Given the description of an element on the screen output the (x, y) to click on. 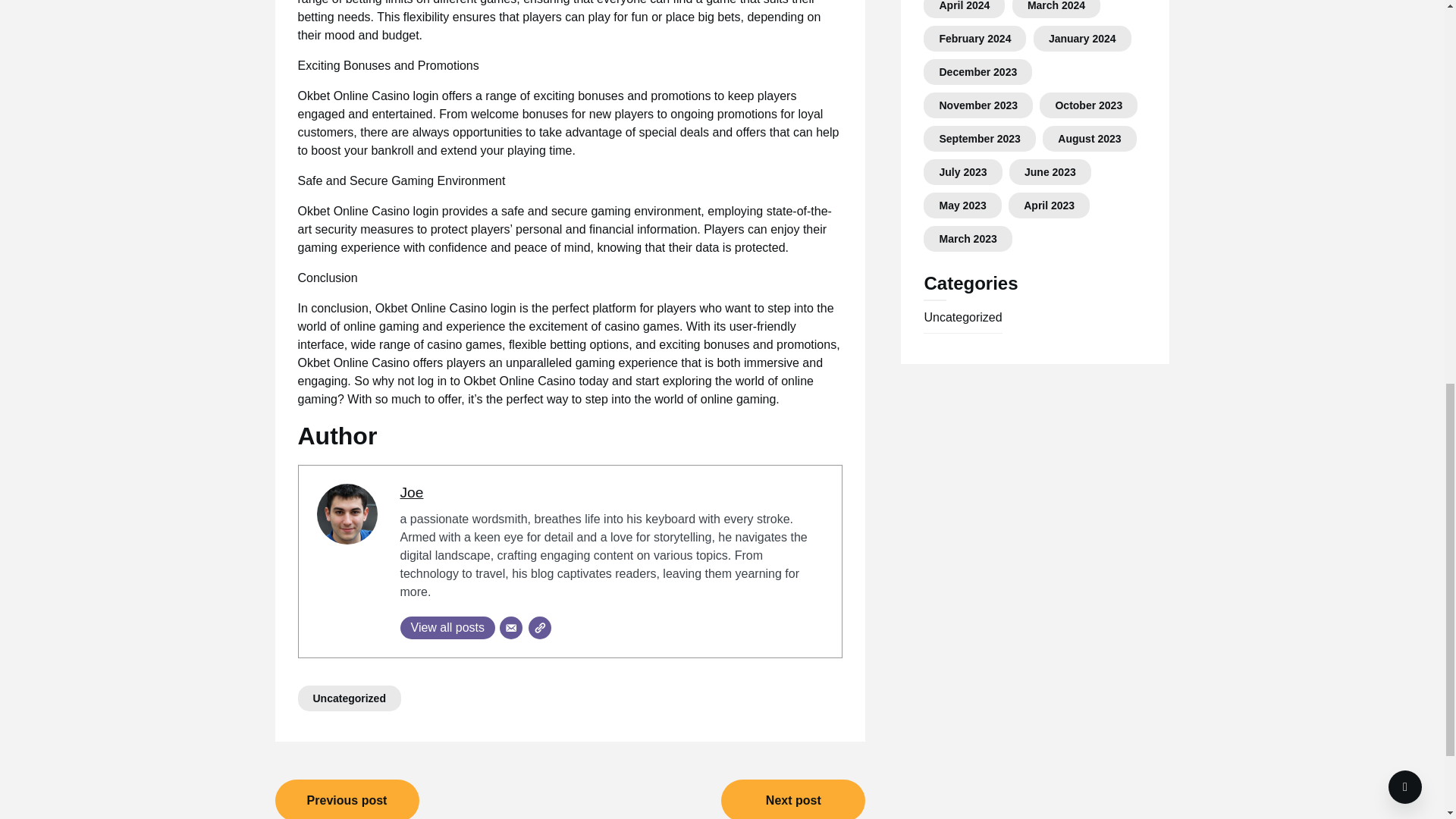
March 2024 (1055, 5)
View all posts (448, 627)
Joe (411, 492)
Uncategorized (348, 698)
April 2024 (964, 5)
December 2023 (977, 71)
Joe (411, 492)
October 2023 (1088, 105)
February 2024 (974, 38)
January 2024 (1082, 38)
